Given the description of an element on the screen output the (x, y) to click on. 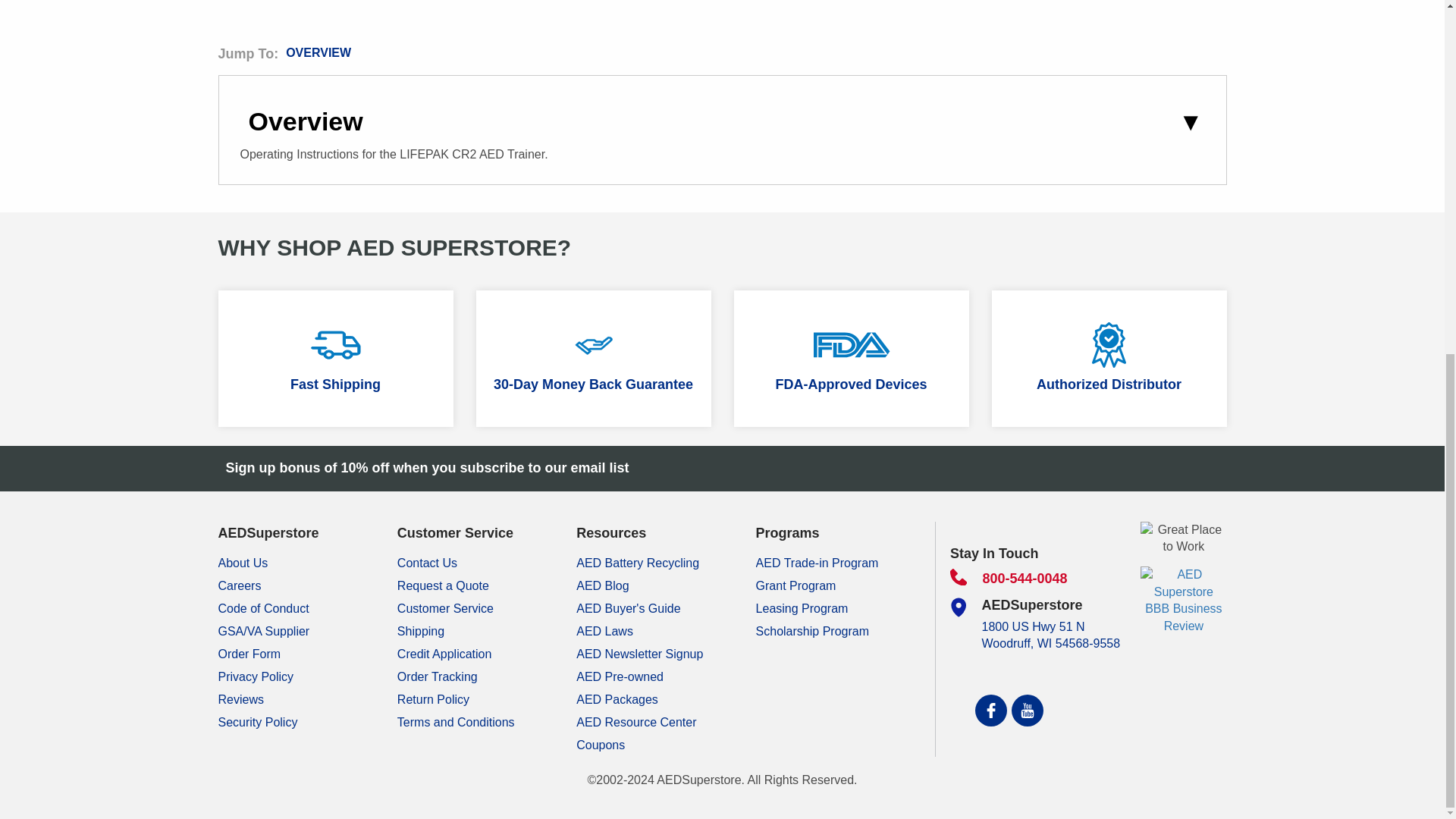
OVERVIEW (317, 51)
